Given the description of an element on the screen output the (x, y) to click on. 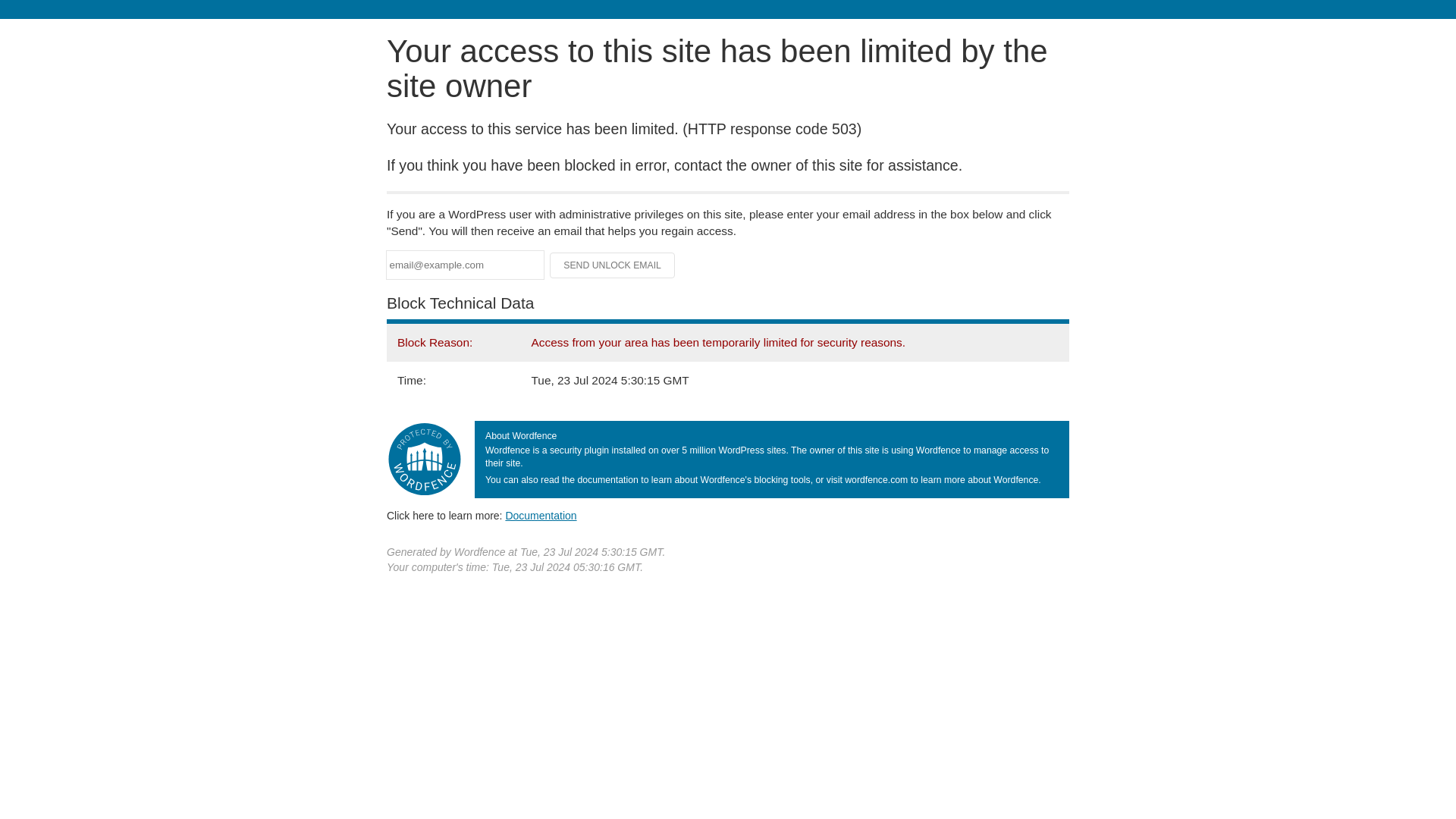
Send Unlock Email (612, 265)
Documentation (540, 515)
Send Unlock Email (612, 265)
